Given the description of an element on the screen output the (x, y) to click on. 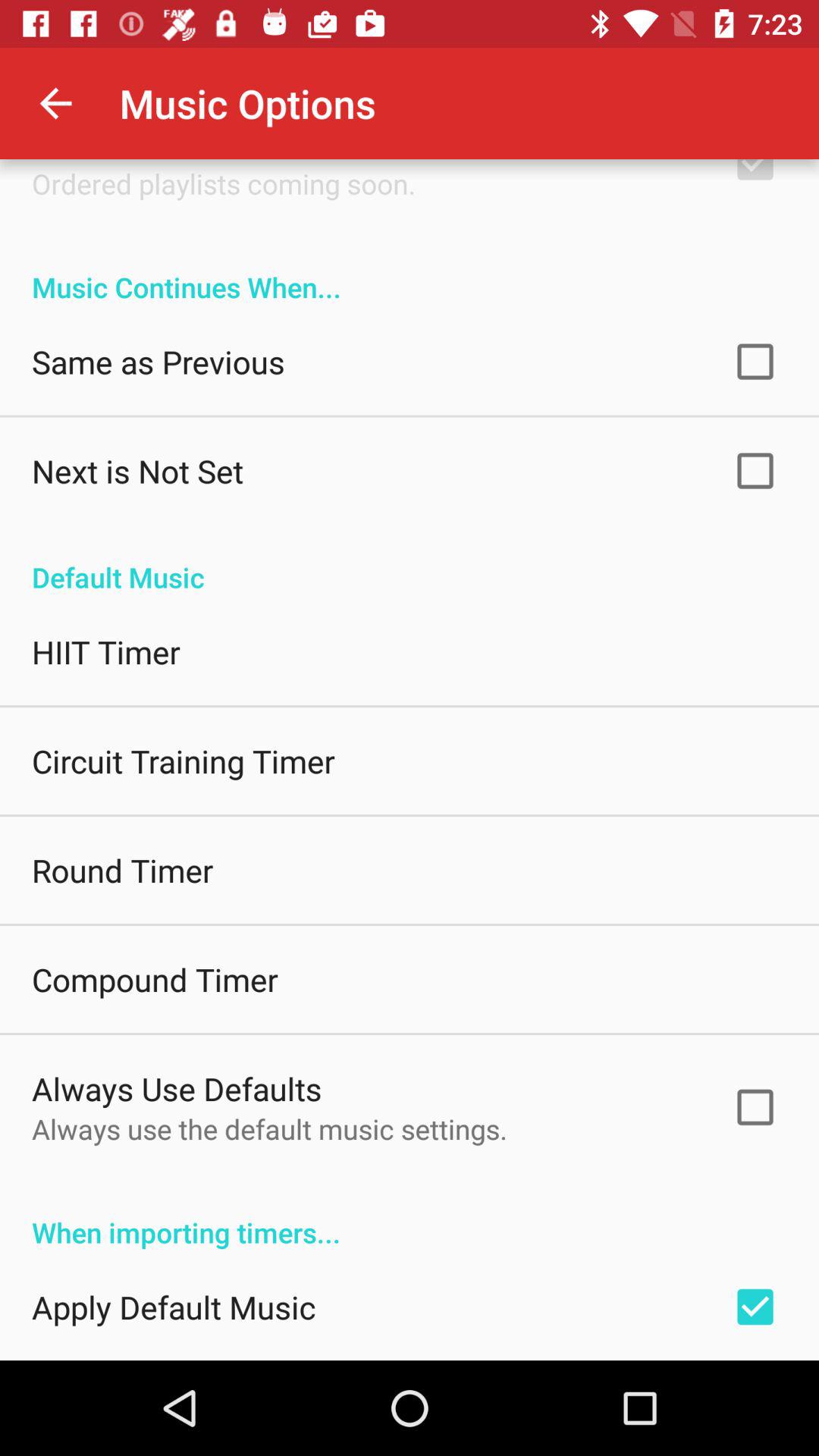
select icon above music continues when... icon (223, 183)
